Given the description of an element on the screen output the (x, y) to click on. 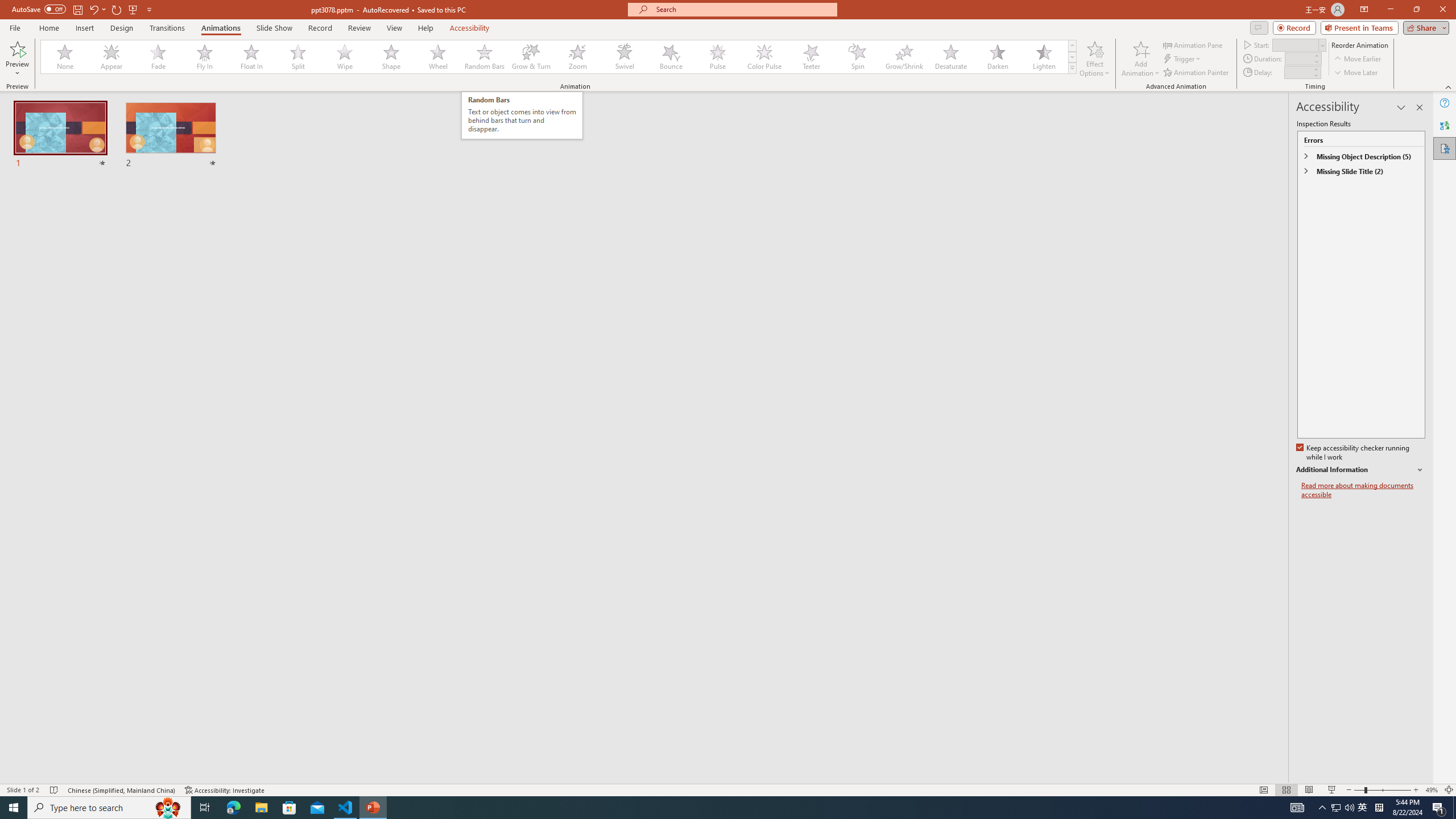
Grow & Turn (531, 56)
Effect Options (1094, 58)
Random Bars (484, 56)
Move Later (1355, 72)
Shape (391, 56)
Split (298, 56)
